Given the description of an element on the screen output the (x, y) to click on. 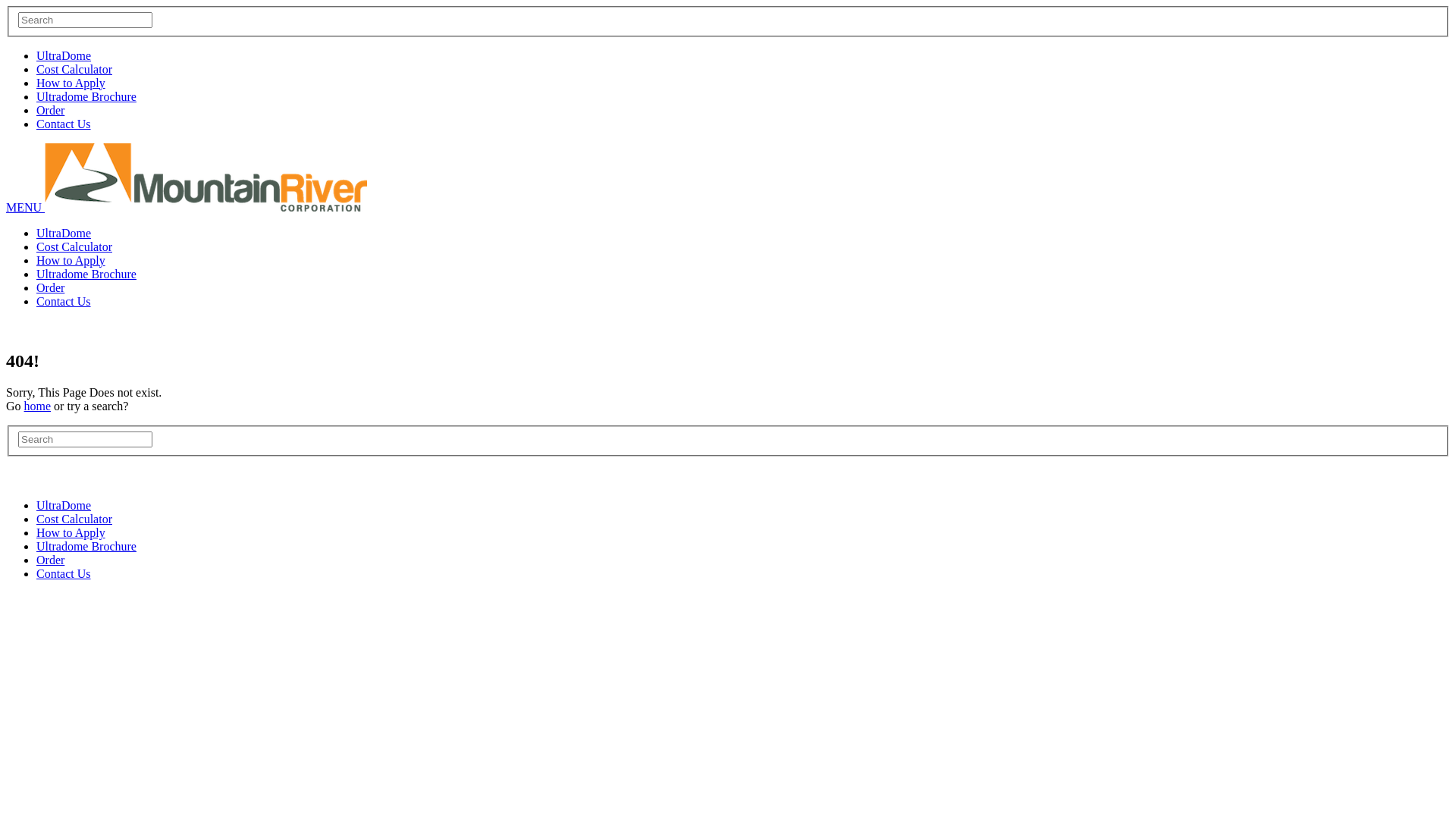
MENU Element type: text (25, 206)
How to Apply Element type: text (70, 82)
Contact Us Element type: text (63, 573)
Mountain River Corporation Element type: hover (205, 206)
Ultradome Brochure Element type: text (86, 96)
Ultradome Brochure Element type: text (86, 545)
Cost Calculator Element type: text (74, 246)
UltraDome Element type: text (63, 504)
Ultradome Brochure Element type: text (86, 273)
How to Apply Element type: text (70, 260)
Cost Calculator Element type: text (74, 68)
UltraDome Element type: text (63, 55)
How to Apply Element type: text (70, 532)
Contact Us Element type: text (63, 300)
Order Element type: text (50, 287)
Cost Calculator Element type: text (74, 518)
home Element type: text (37, 405)
UltraDome Element type: text (63, 232)
Order Element type: text (50, 559)
Order Element type: text (50, 109)
Contact Us Element type: text (63, 123)
